Given the description of an element on the screen output the (x, y) to click on. 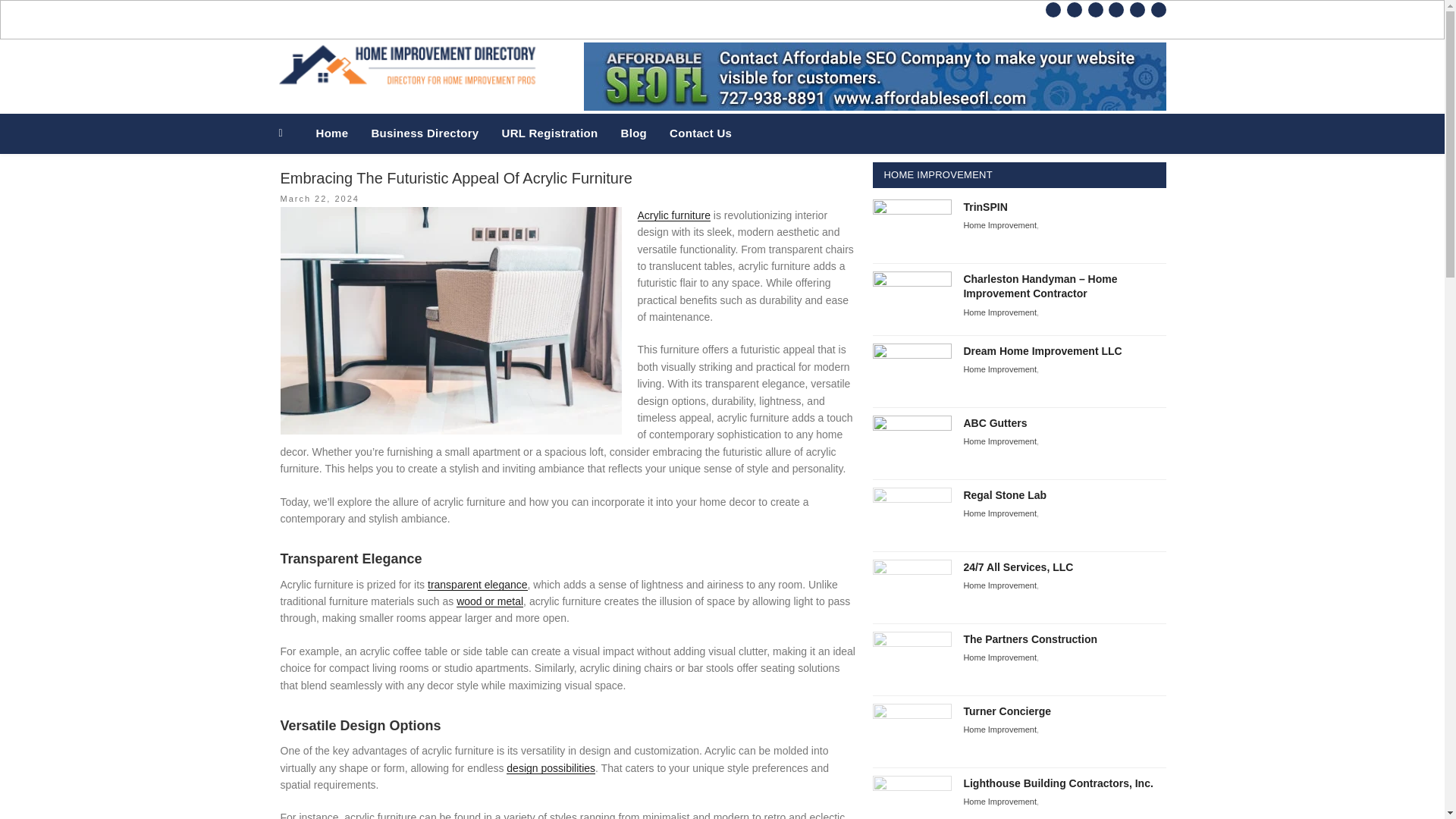
Business Directory (424, 133)
twitter (1074, 9)
Home Improvement (999, 512)
URL Registration (548, 133)
Blog (634, 133)
pinterest (1095, 9)
March 22, 2024 (320, 198)
Home Improvement (999, 440)
transparent elegance (477, 584)
HOME IMPROVEMENT COMPANIES AND NEWS (662, 102)
